Given the description of an element on the screen output the (x, y) to click on. 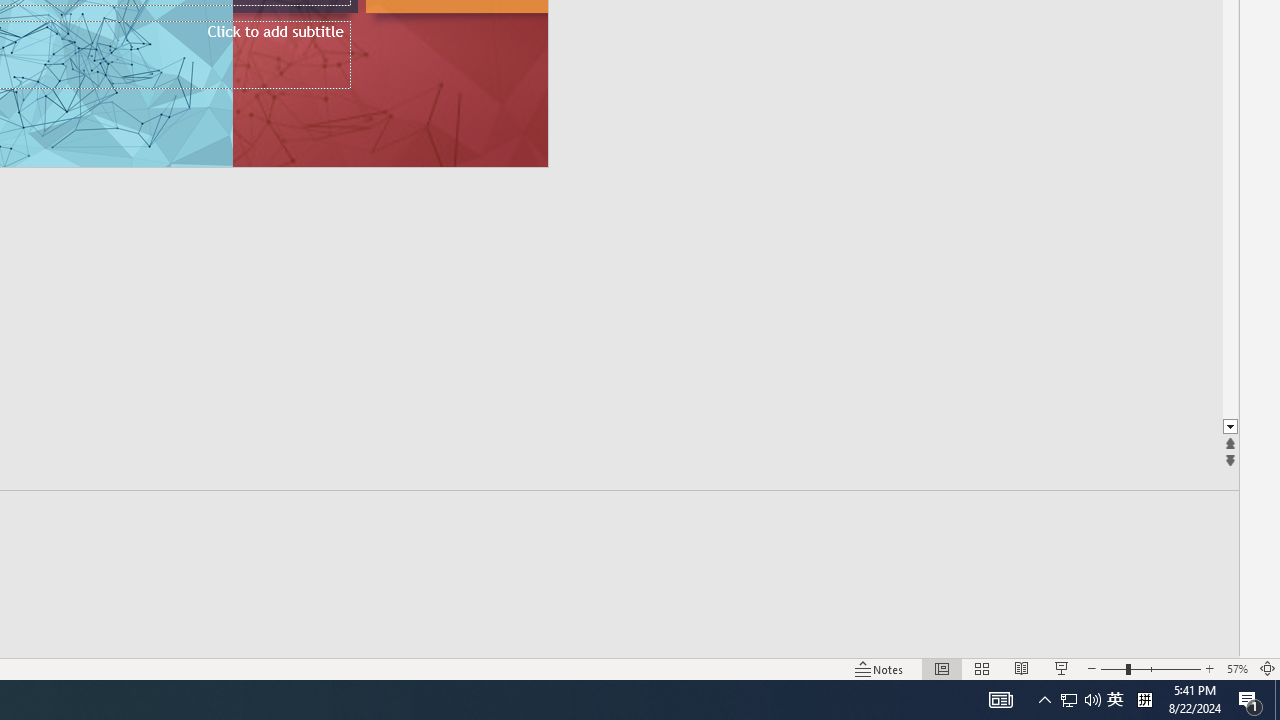
Zoom 57% (1236, 668)
